Given the description of an element on the screen output the (x, y) to click on. 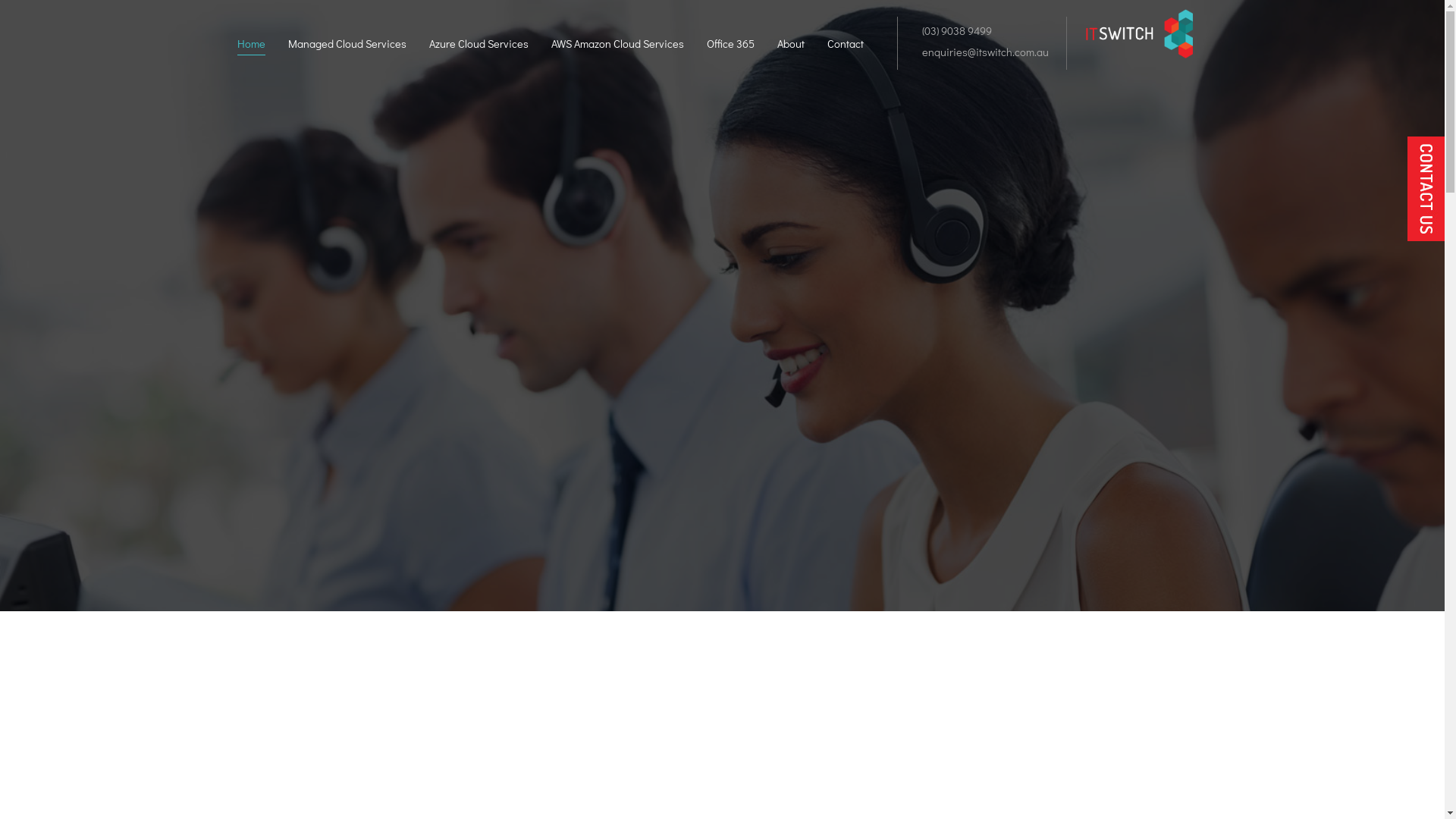
About Element type: text (789, 45)
AWS Amazon Cloud Services Element type: text (616, 45)
enquiries@itswitch.com.au Element type: text (981, 51)
Home Element type: text (250, 45)
Managed Cloud Services Element type: text (347, 45)
(03) 9038 9499 Element type: text (953, 30)
Office 365 Element type: text (730, 45)
Azure Cloud Services Element type: text (478, 45)
Contact Element type: text (844, 45)
